Given the description of an element on the screen output the (x, y) to click on. 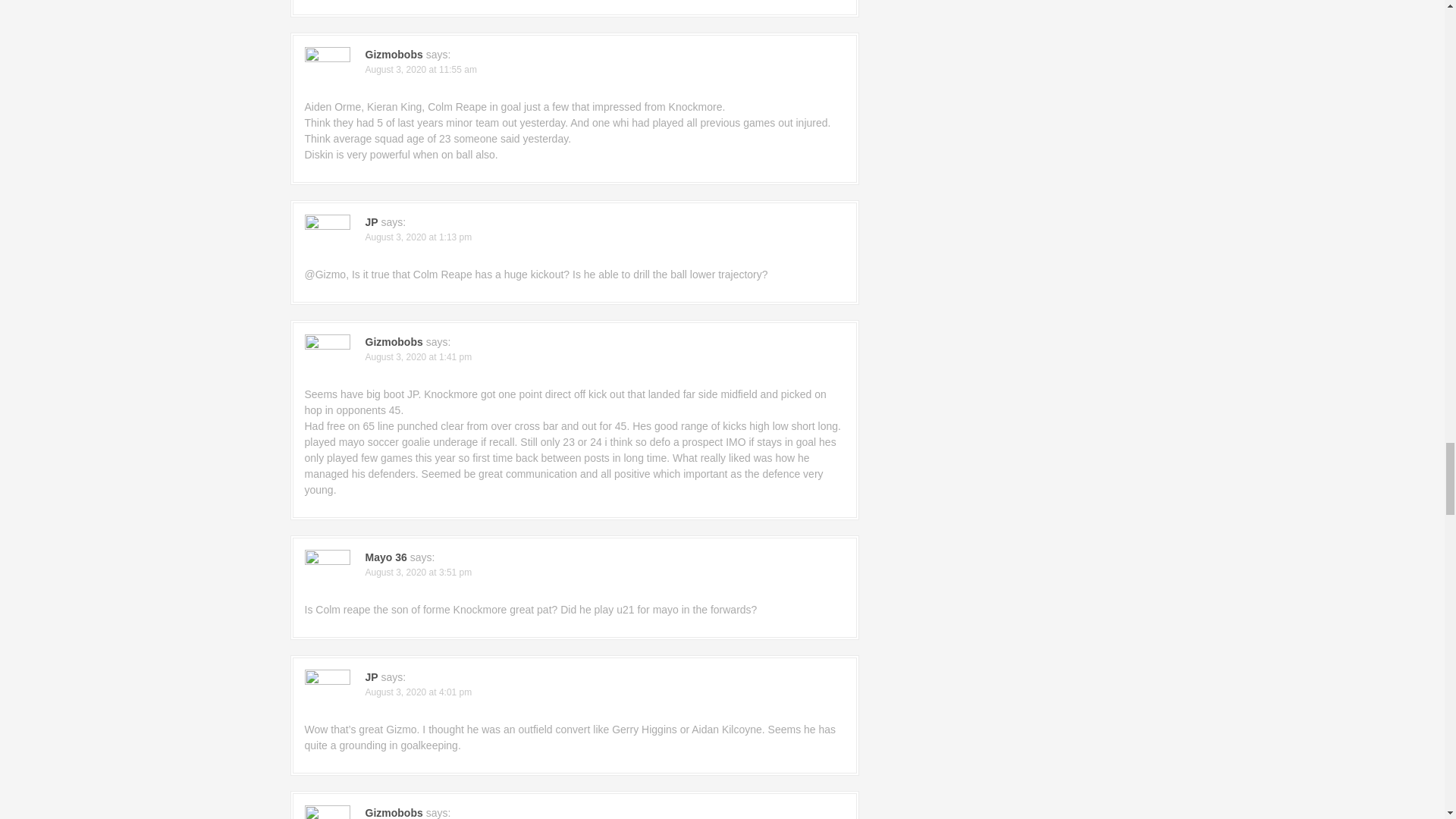
August 3, 2020 at 11:55 am (421, 69)
August 3, 2020 at 1:13 pm (418, 236)
August 3, 2020 at 4:01 pm (418, 692)
August 3, 2020 at 3:51 pm (418, 572)
August 3, 2020 at 1:41 pm (418, 357)
